Given the description of an element on the screen output the (x, y) to click on. 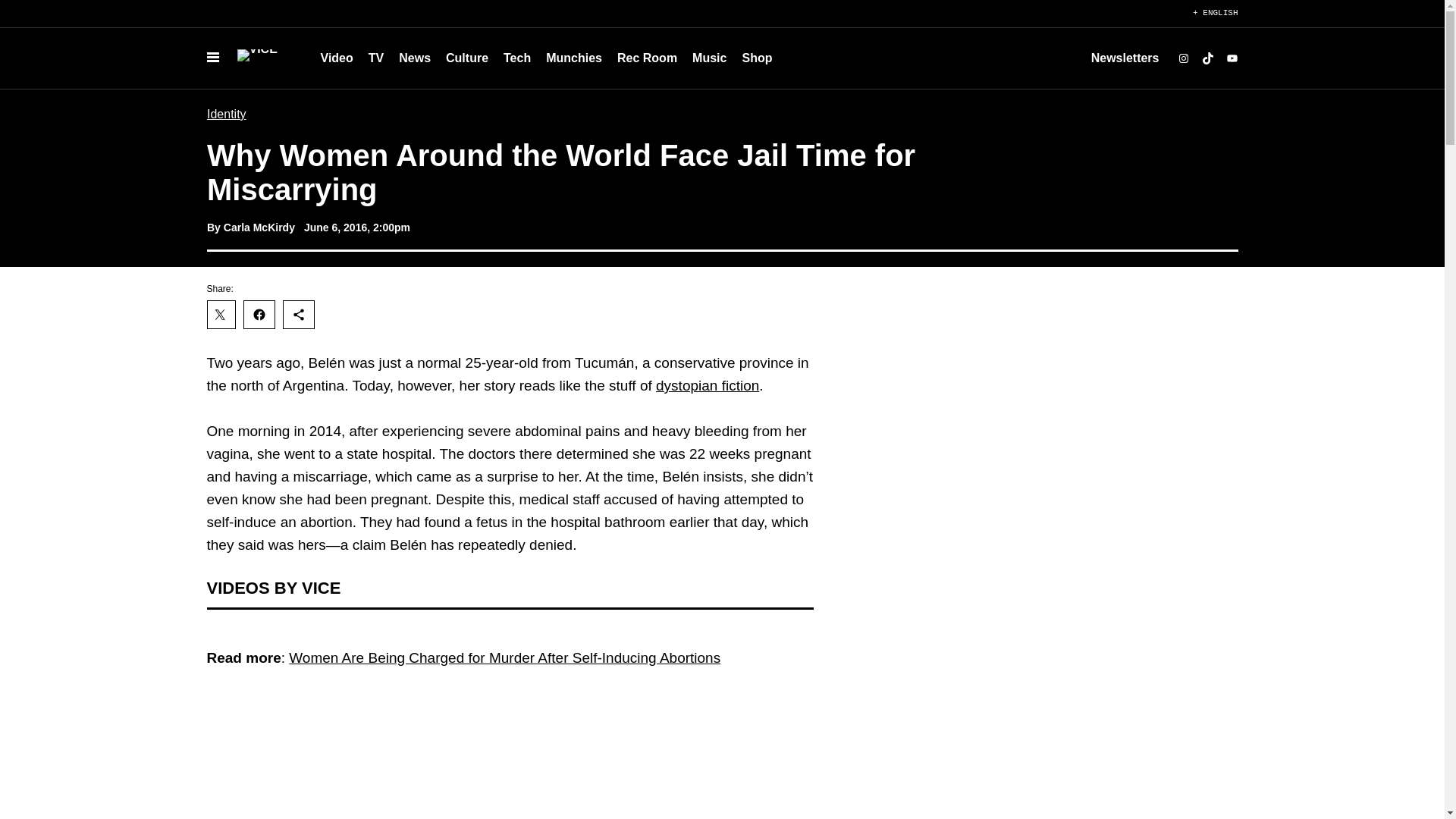
Open Menu (211, 58)
Shop (755, 58)
News (414, 58)
Tech (517, 58)
Newsletters (1124, 57)
TikTok (1206, 58)
Instagram (1182, 58)
Munchies (574, 58)
Posts by Carla McKirdy (258, 227)
